Given the description of an element on the screen output the (x, y) to click on. 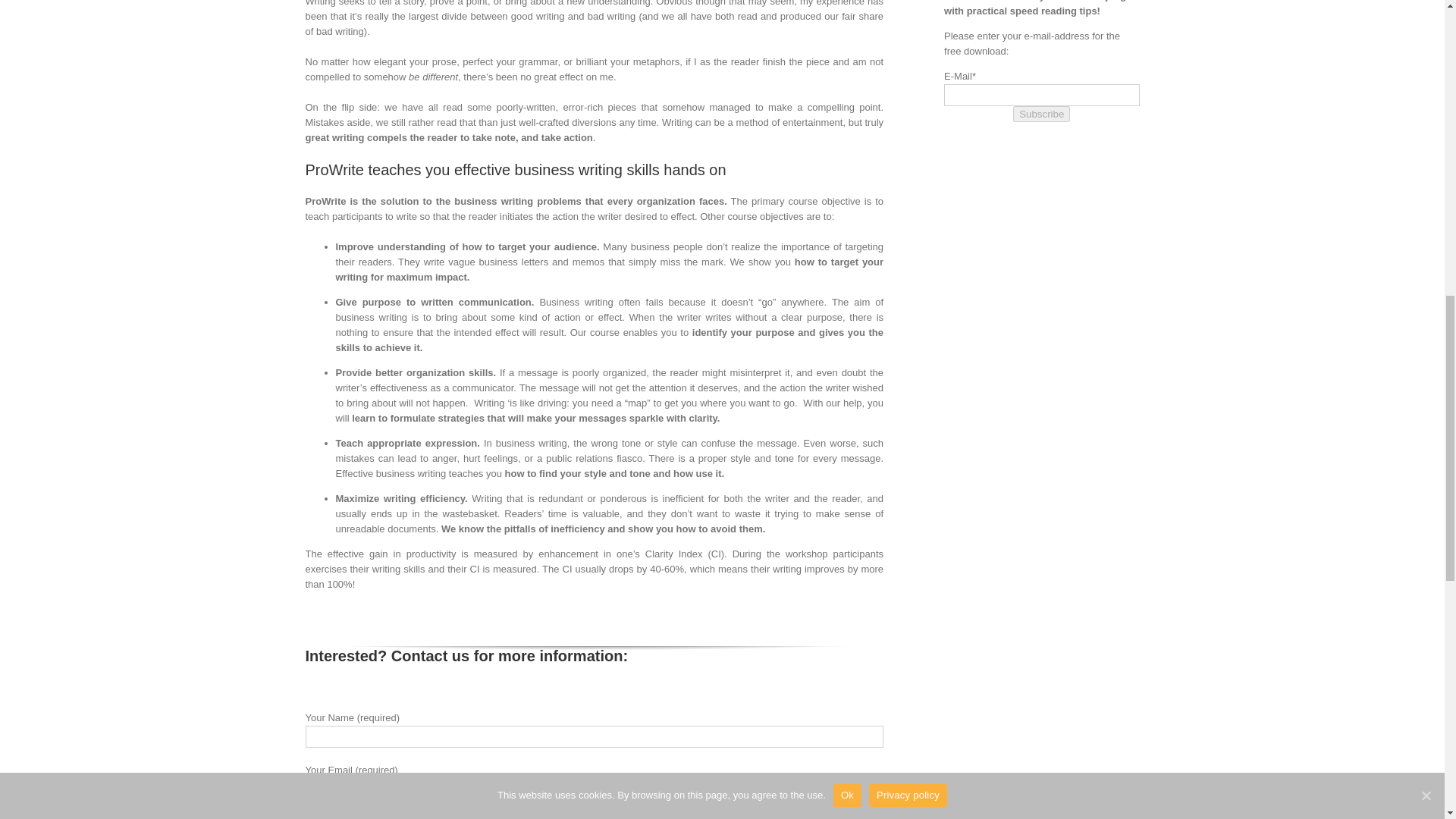
Interested? Contact us for more information: (593, 659)
